Given the description of an element on the screen output the (x, y) to click on. 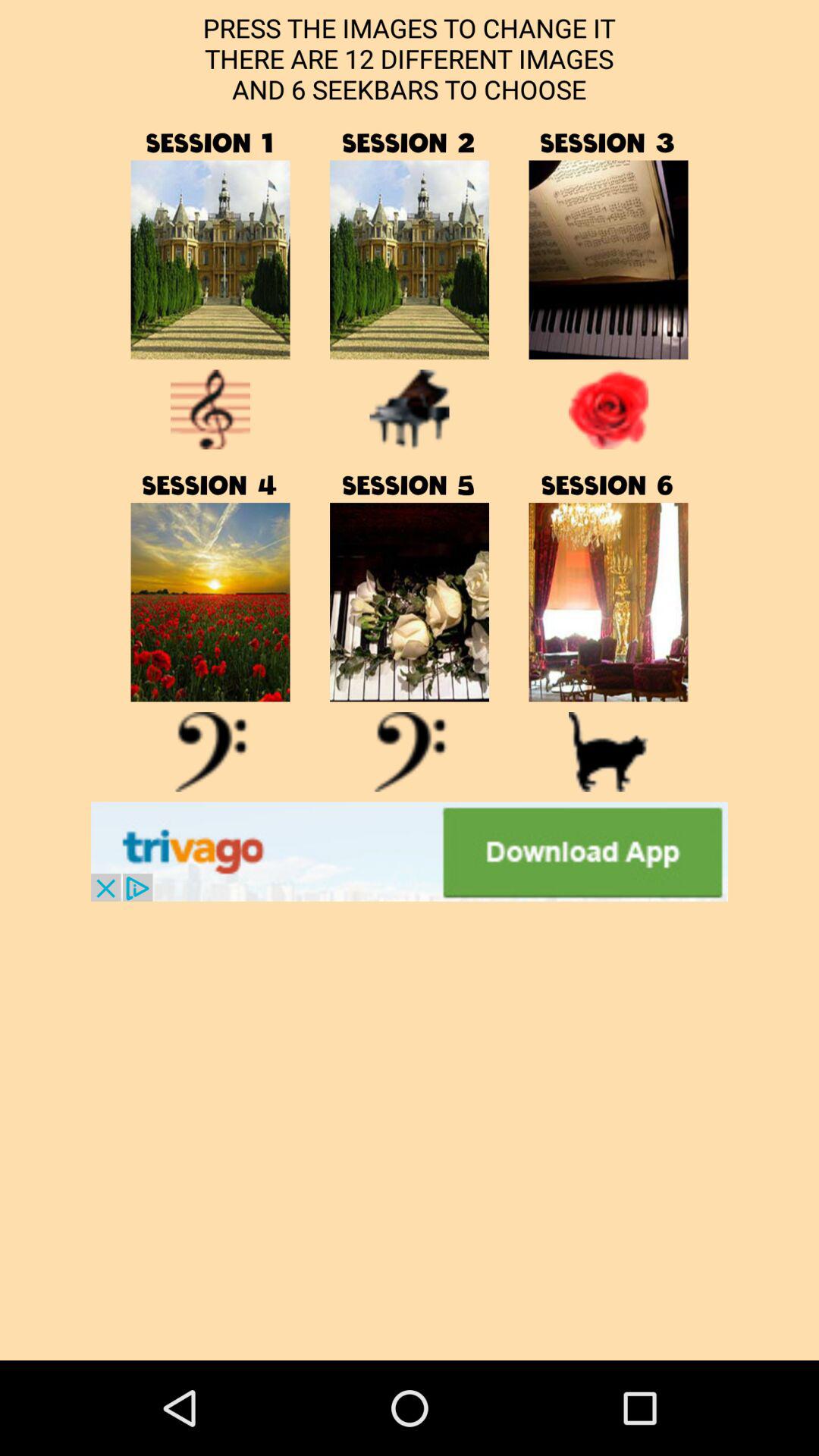
click the option for particular process (608, 259)
